Given the description of an element on the screen output the (x, y) to click on. 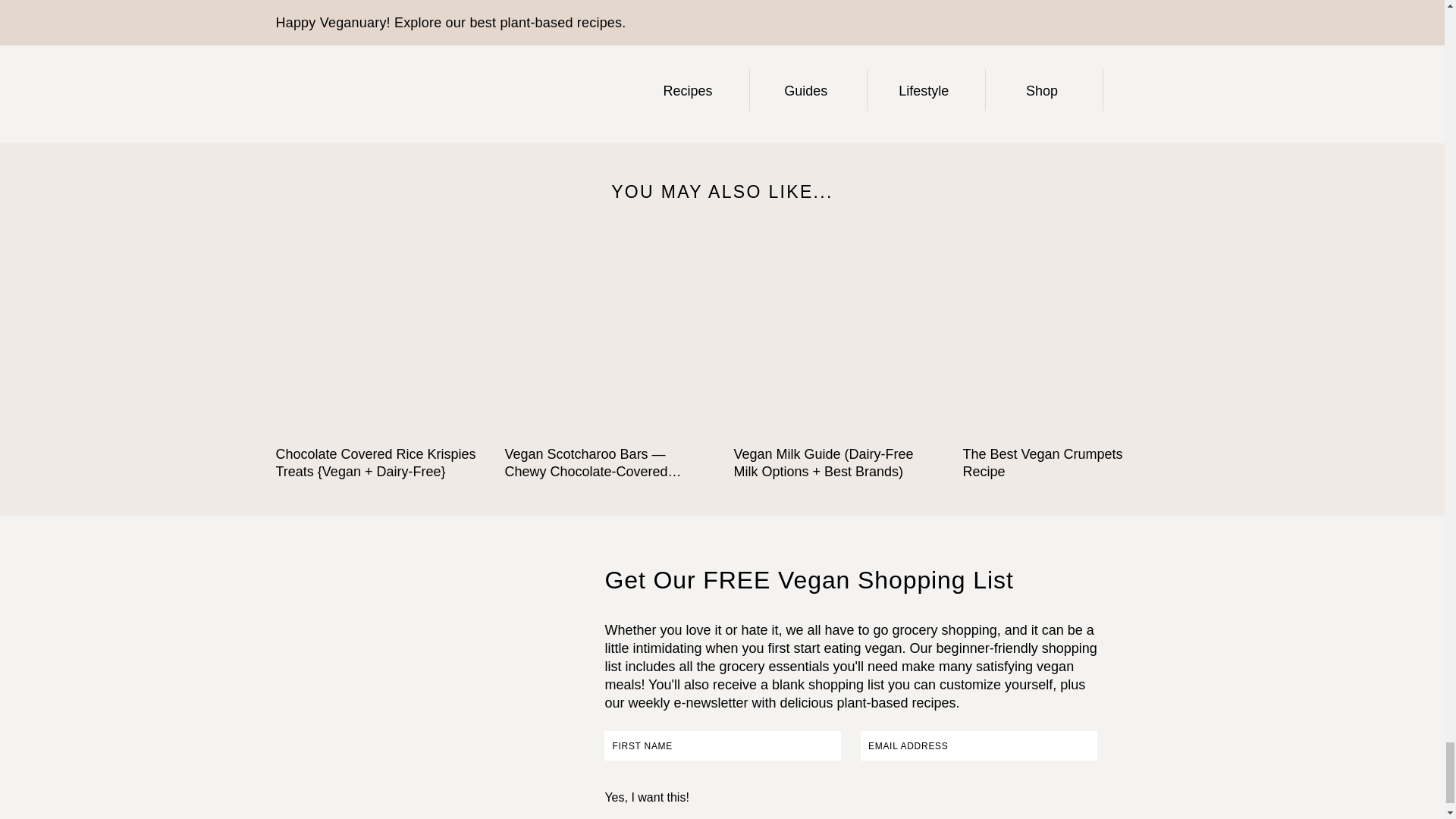
The Best Vegan Crumpets Recipe (1065, 338)
